Given the description of an element on the screen output the (x, y) to click on. 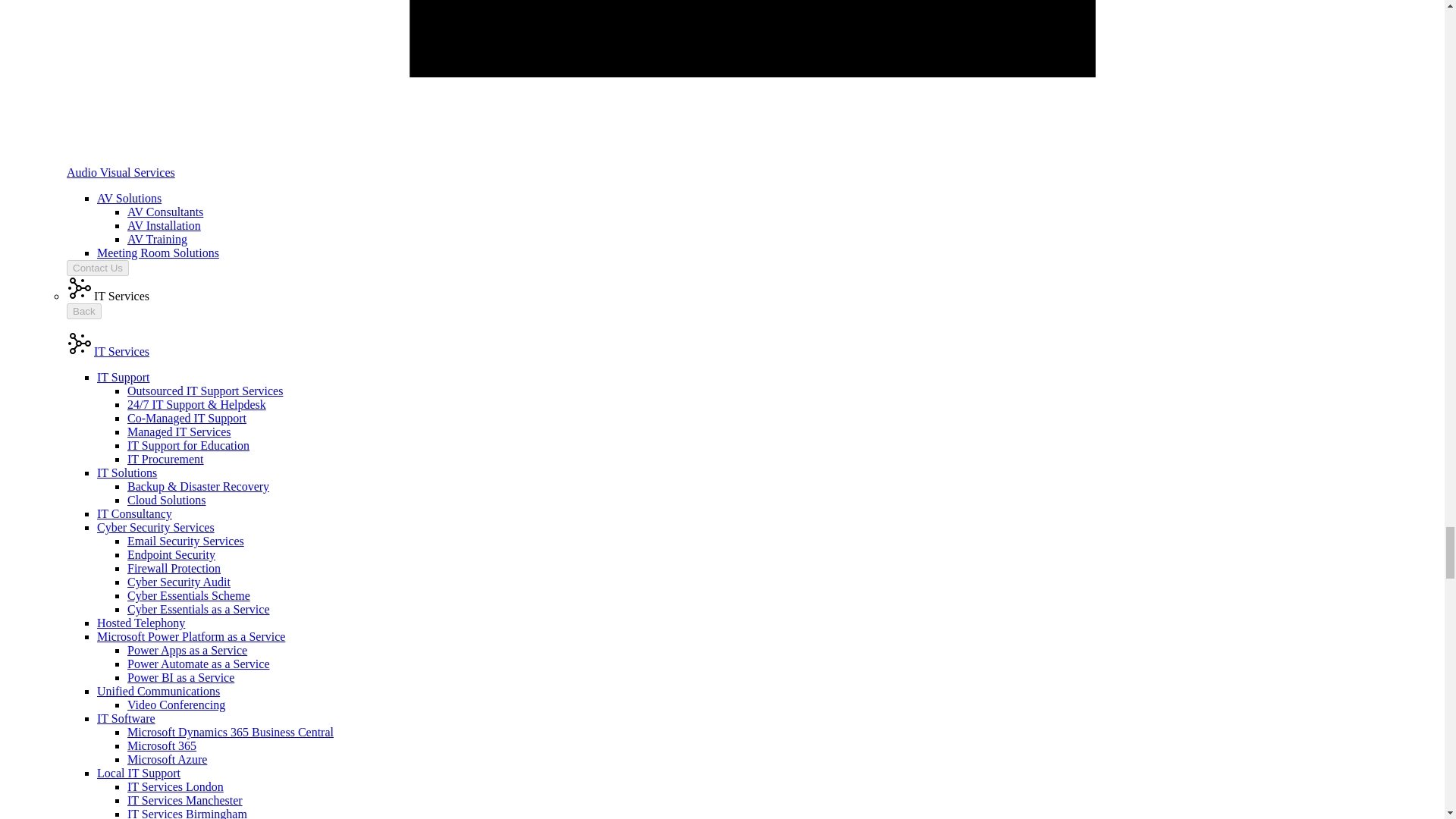
IT Support for Education (188, 445)
